Given the description of an element on the screen output the (x, y) to click on. 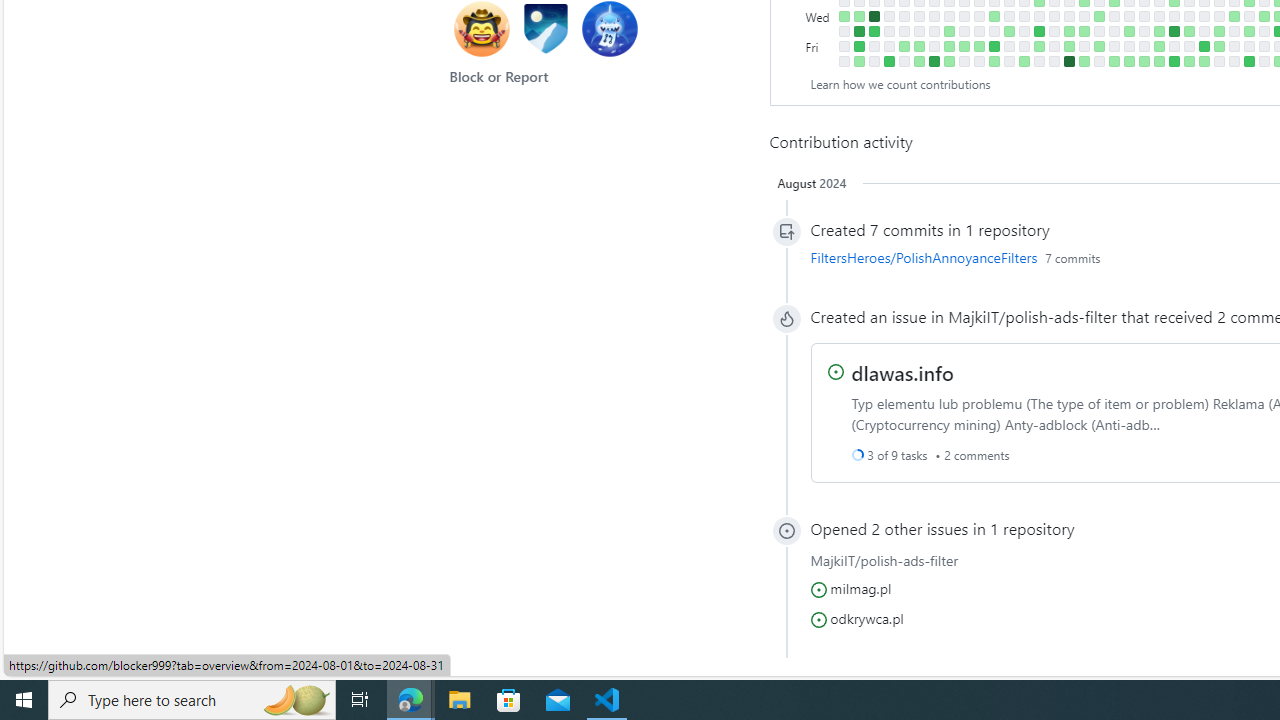
No contributions on July 18th. (1263, 30)
No contributions on February 14th. (933, 16)
13 contributions on January 17th. (873, 16)
6 contributions on January 12th. (858, 46)
No contributions on July 6th. (1233, 61)
Thursday (819, 30)
No contributions on February 21st. (948, 16)
No contributions on January 25th. (888, 30)
No contributions on January 6th. (843, 61)
No contributions on March 27th. (1023, 16)
No contributions on June 19th. (1203, 16)
No contributions on May 17th. (1128, 46)
1 contribution on May 3rd. (1098, 46)
7 commits (1072, 257)
6 contributions on March 15th. (993, 46)
